Given the description of an element on the screen output the (x, y) to click on. 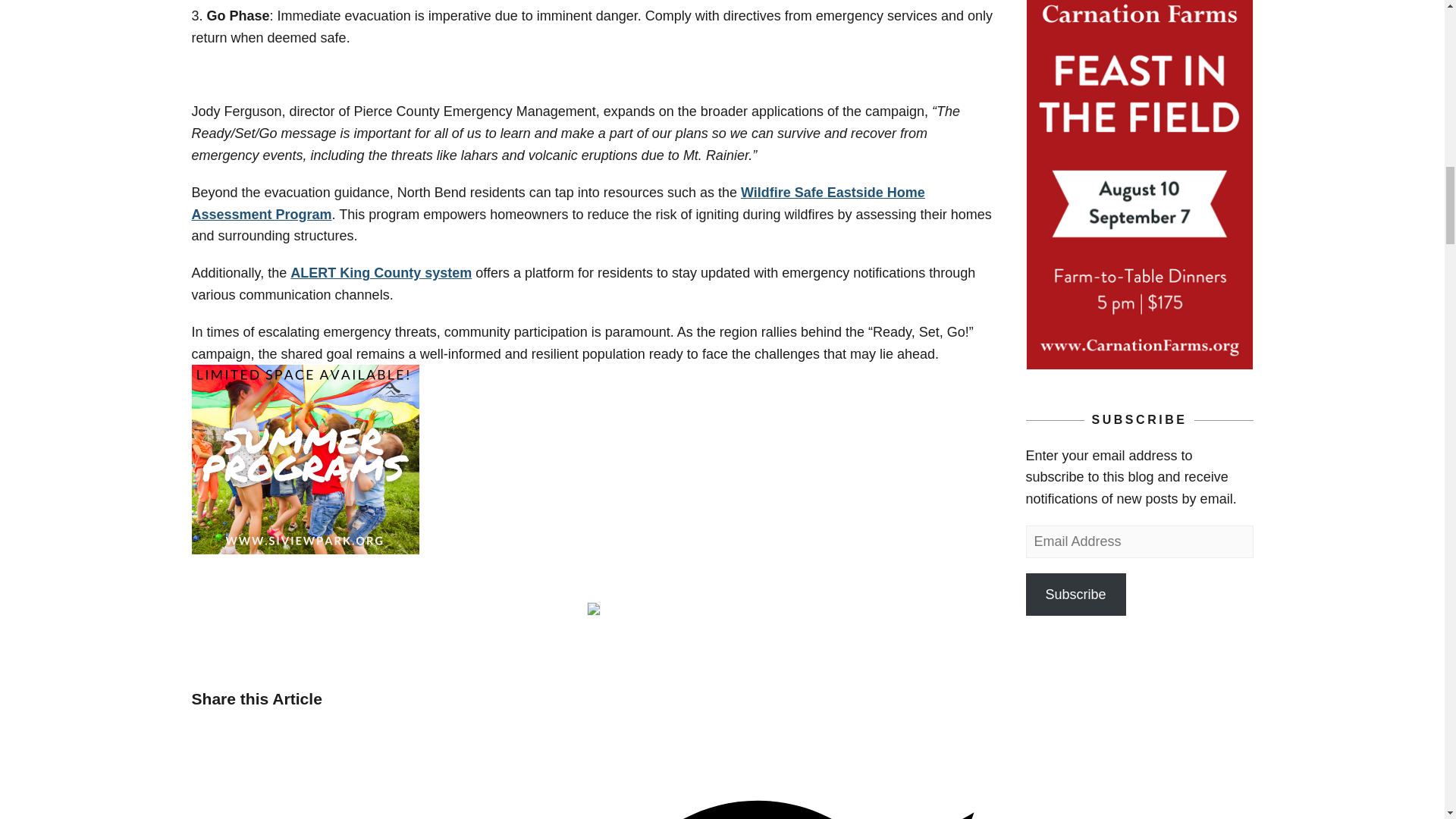
Wildfire Safe Eastside Home Assessment Program (557, 203)
ALERT King County system (380, 272)
